Given the description of an element on the screen output the (x, y) to click on. 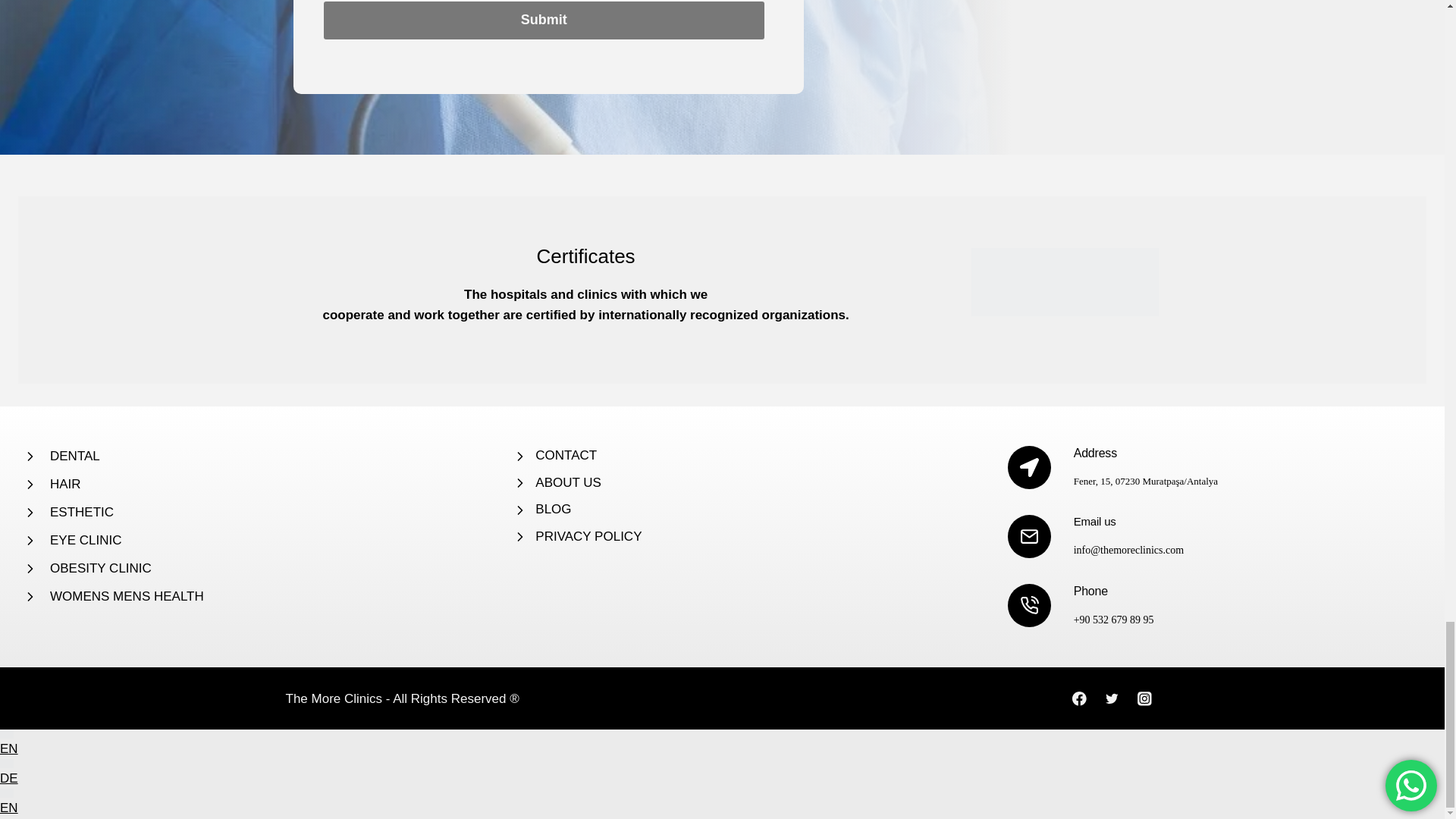
Submit (542, 20)
English (6, 733)
German (6, 763)
English (6, 792)
